Given the description of an element on the screen output the (x, y) to click on. 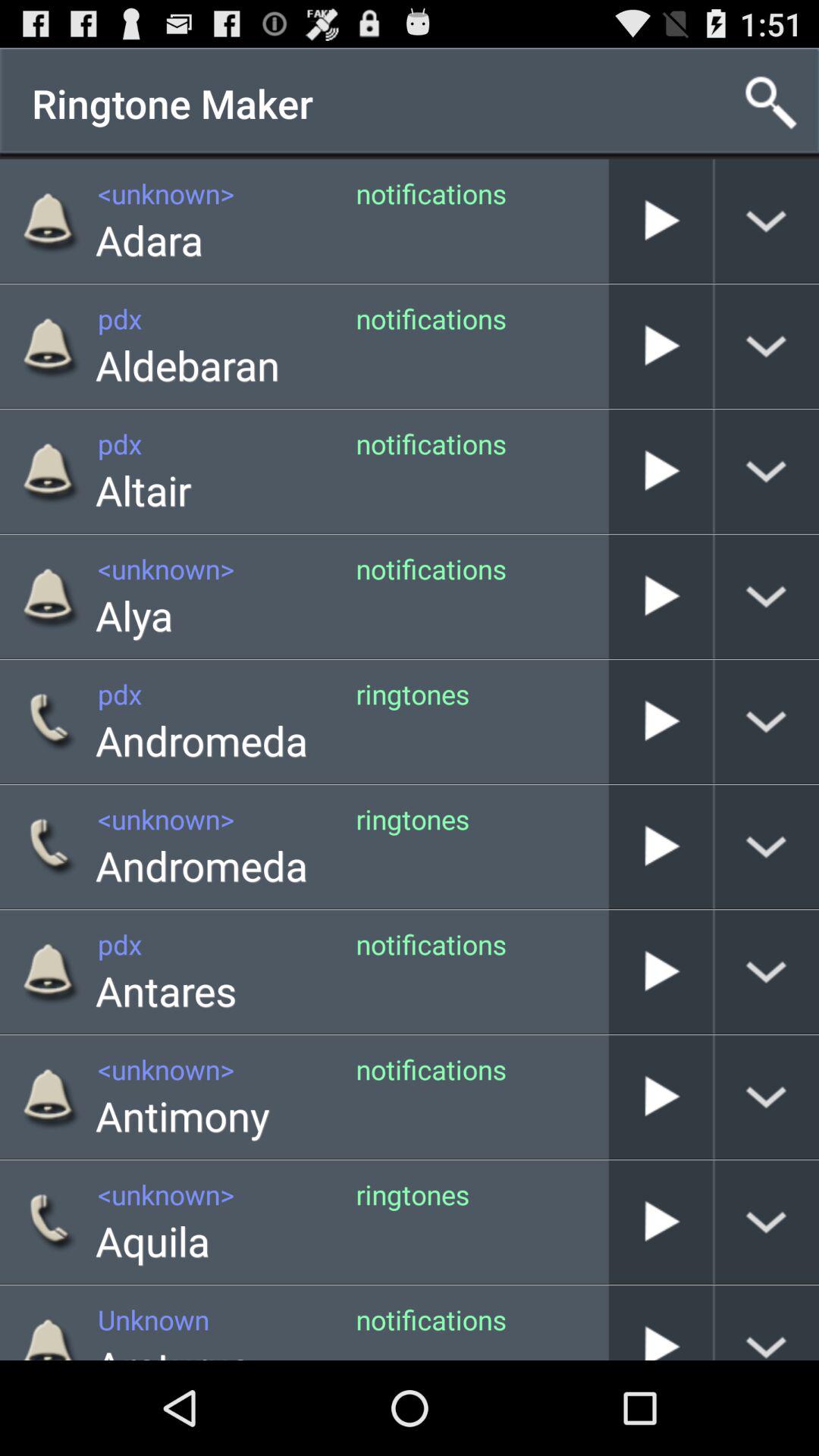
show more information (767, 346)
